Given the description of an element on the screen output the (x, y) to click on. 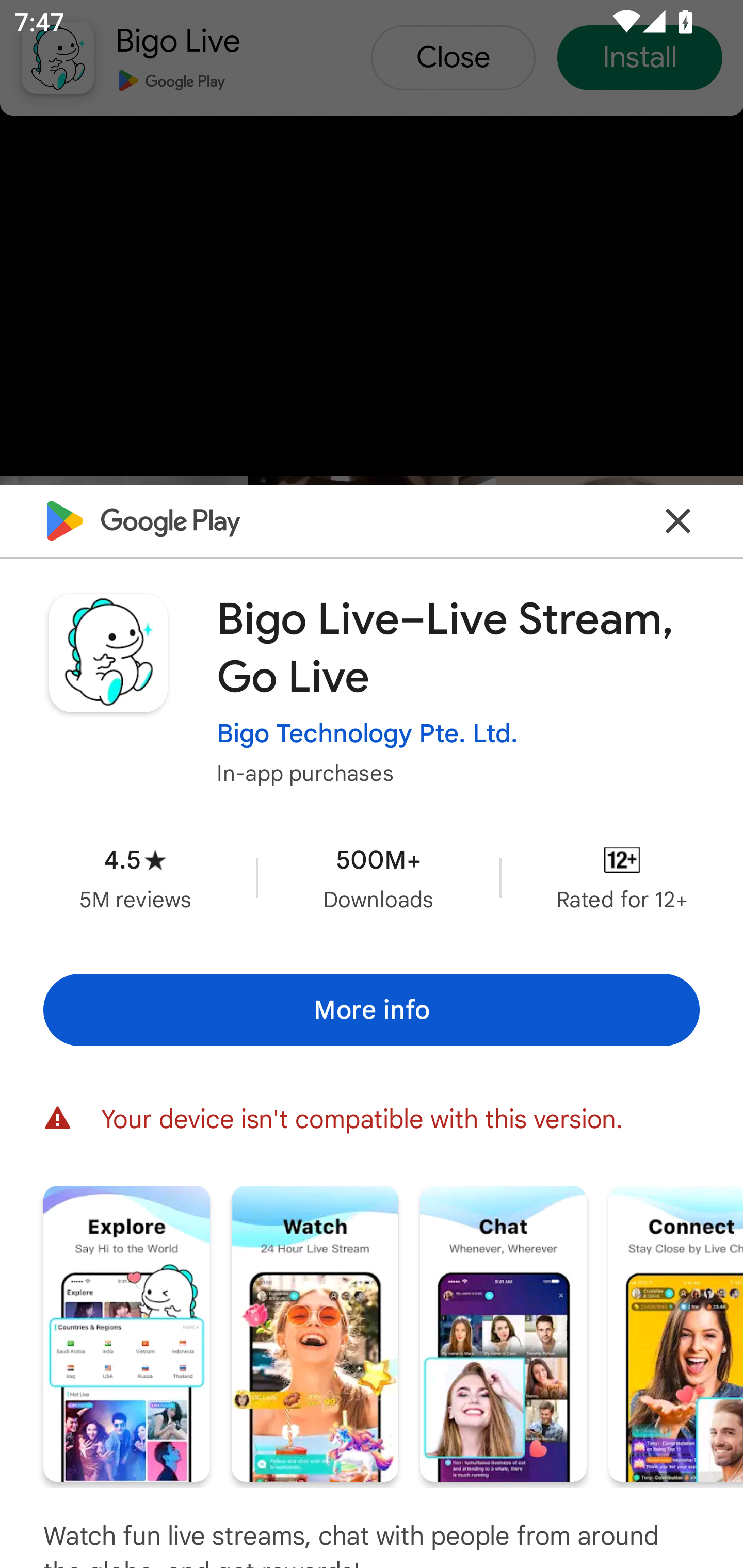
Close (677, 520)
Bigo Technology Pte. Ltd. (367, 732)
More info (371, 1009)
Screenshot "1" of "8" (126, 1333)
Screenshot "2" of "8" (314, 1333)
Screenshot "3" of "8" (502, 1333)
Screenshot "4" of "8" (675, 1333)
